Given the description of an element on the screen output the (x, y) to click on. 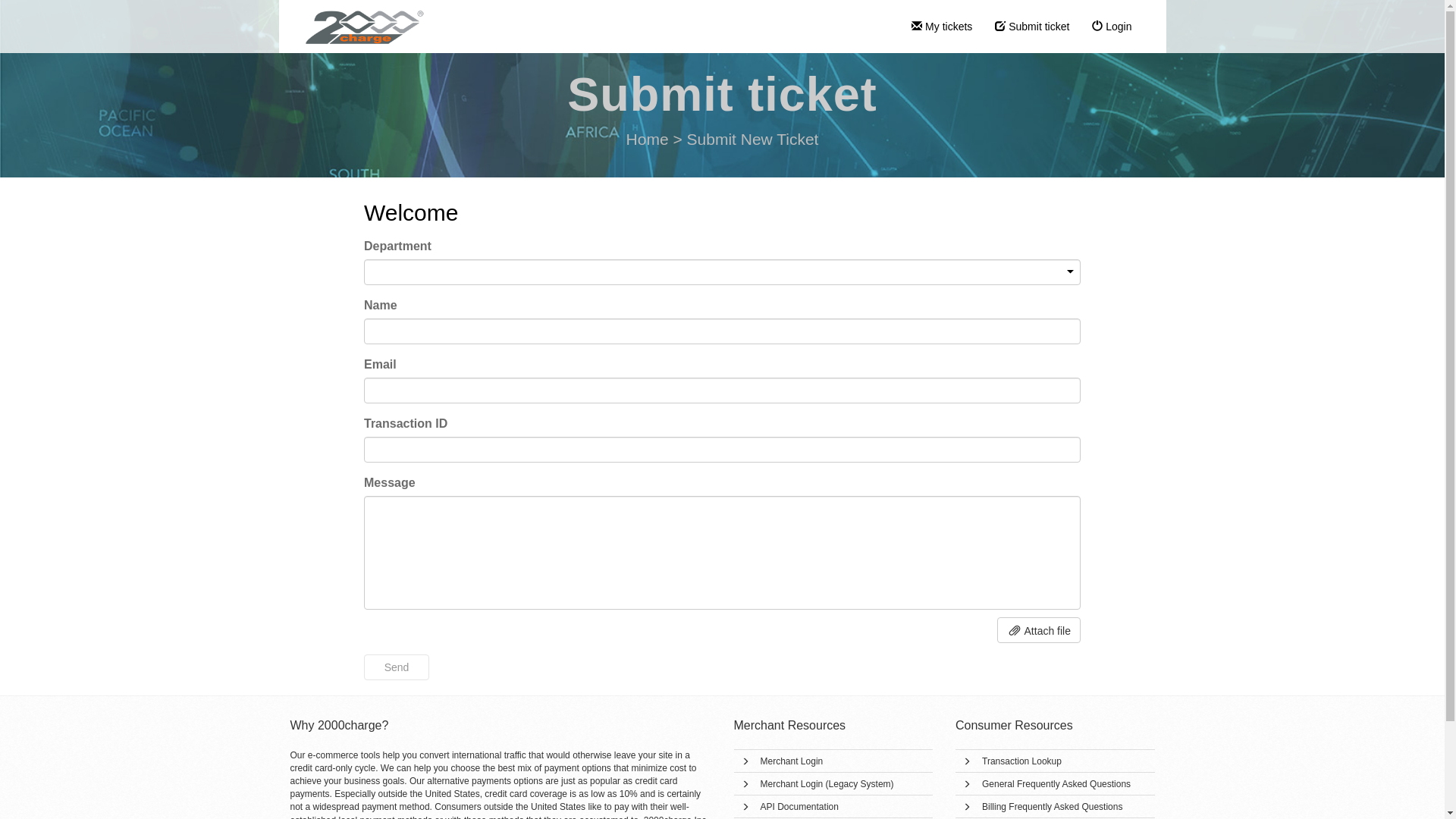
Submit ticket Element type: text (1031, 26)
Merchant Login (Legacy System) Element type: text (826, 783)
Merchant Login Element type: text (790, 761)
My tickets Element type: text (941, 26)
Login Element type: text (1111, 26)
Home Element type: text (647, 138)
Transaction Lookup Element type: text (1021, 761)
Billing Frequently Asked Questions Element type: text (1052, 806)
General Frequently Asked Questions Element type: text (1056, 783)
API Documentation Element type: text (798, 806)
